Given the description of an element on the screen output the (x, y) to click on. 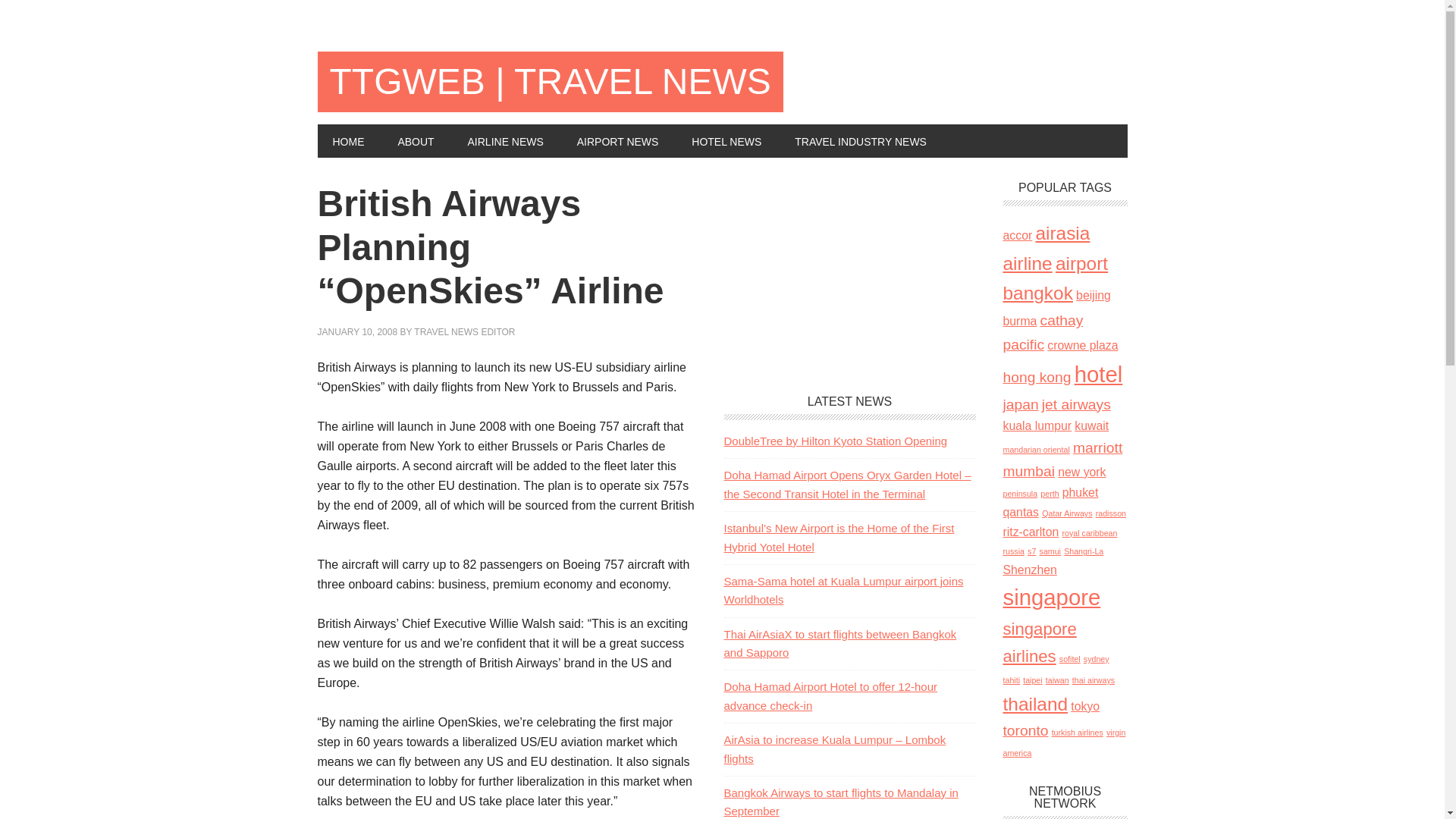
Sama-Sama hotel at Kuala Lumpur airport joins Worldhotels (842, 590)
TRAVEL INDUSTRY NEWS (860, 141)
bangkok (1037, 292)
AIRPORT NEWS (618, 141)
ABOUT (414, 141)
DoubleTree by Hilton Kyoto Station Opening (835, 440)
jet airways (1076, 404)
burma (1019, 320)
airasia (1062, 232)
Advertisement (849, 276)
japan (1020, 404)
accor (1017, 235)
hong kong (1036, 376)
airport (1081, 263)
Thai AirAsiaX to start flights between Bangkok and Sapporo (839, 643)
